Given the description of an element on the screen output the (x, y) to click on. 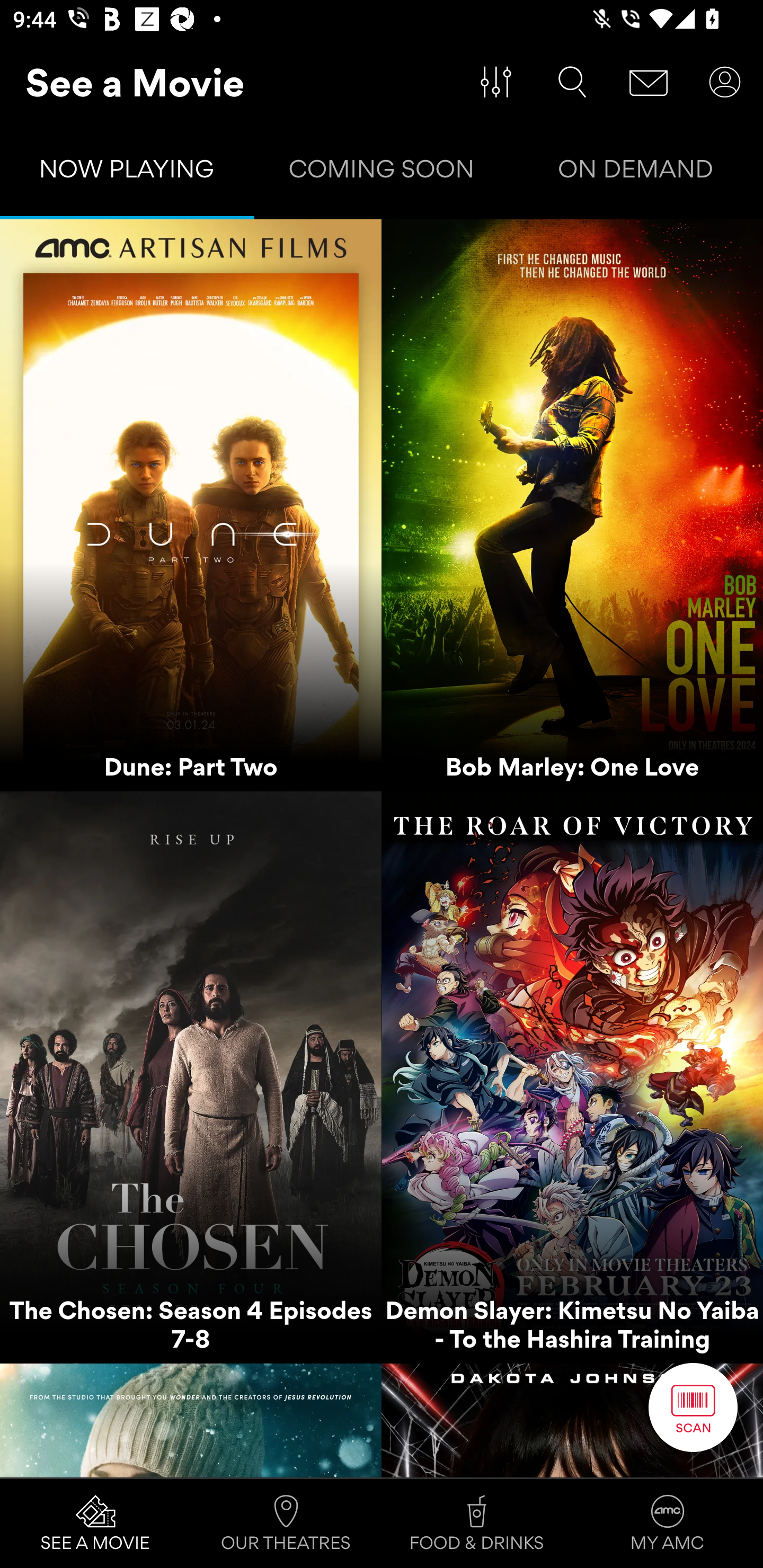
Filter Movies (495, 82)
Search (572, 82)
Message Center (648, 82)
User Account (724, 82)
NOW PLAYING
Tab 1 of 3 (127, 173)
COMING SOON
Tab 2 of 3 (381, 173)
ON DEMAND
Tab 3 of 3 (635, 173)
Dune: Part Two (190, 505)
Bob Marley: One Love (572, 505)
The Chosen: Season 4 Episodes 7-8 (190, 1077)
Scan Button (692, 1406)
SEE A MOVIE
Tab 1 of 4 (95, 1523)
OUR THEATRES
Tab 2 of 4 (285, 1523)
FOOD & DRINKS
Tab 3 of 4 (476, 1523)
MY AMC
Tab 4 of 4 (667, 1523)
